Given the description of an element on the screen output the (x, y) to click on. 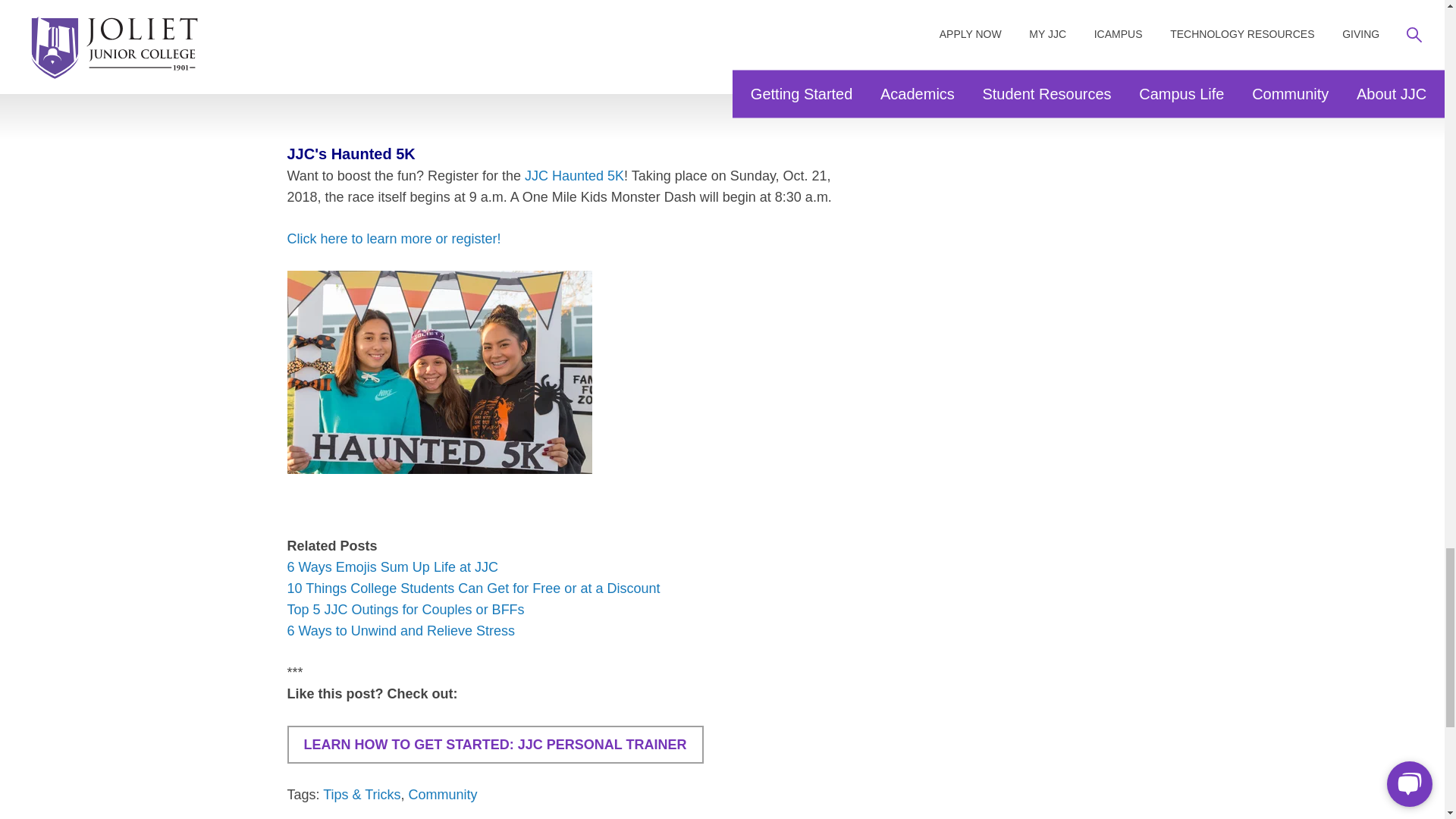
Learn How to Get Started: JJC Personal Trainer (494, 744)
